Given the description of an element on the screen output the (x, y) to click on. 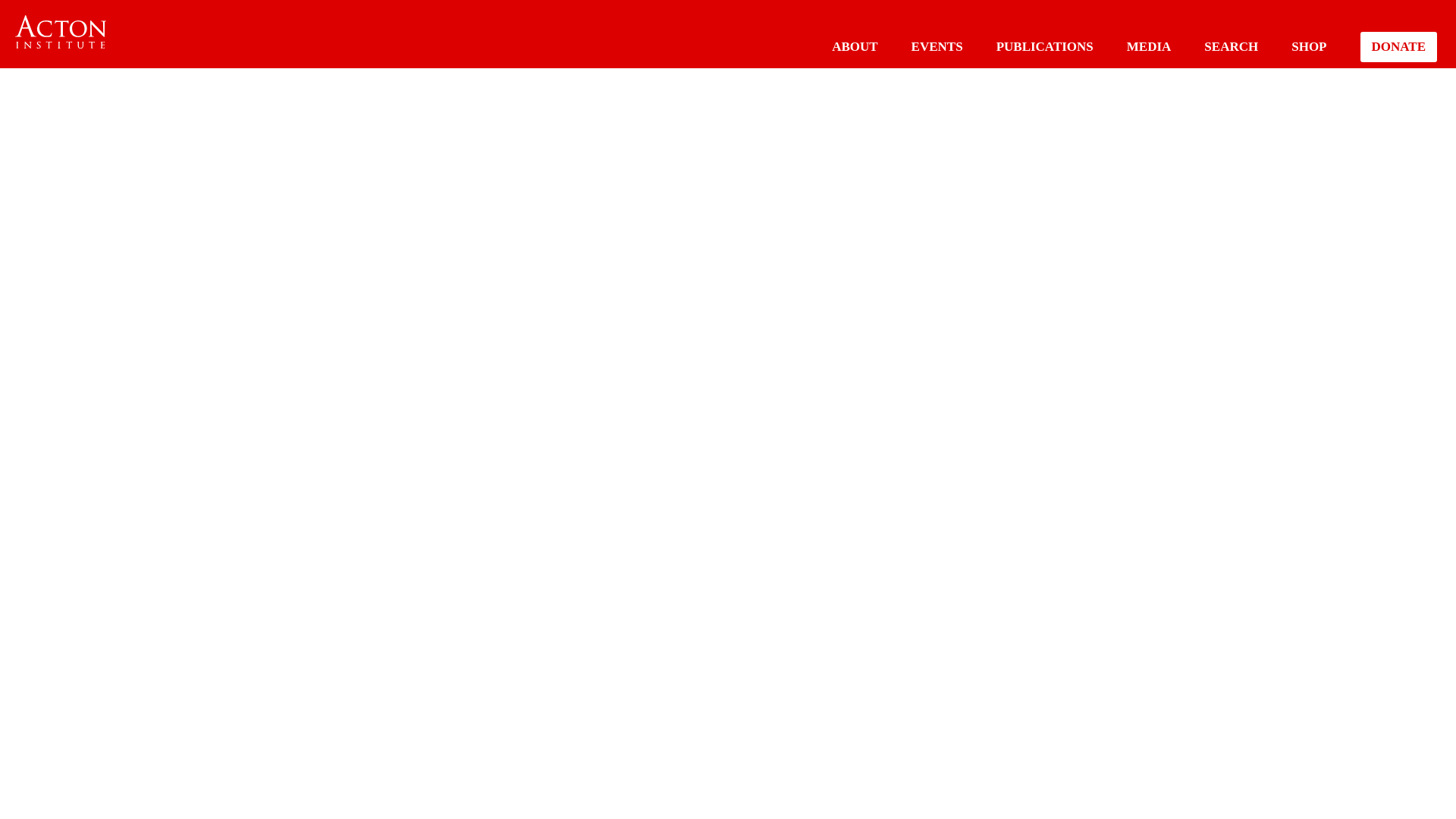
ABOUT (854, 46)
The Acton Institute (60, 31)
SHOP (1308, 46)
DONATE (1398, 46)
PUBLICATIONS (1044, 46)
SEARCH (1230, 46)
EVENTS (936, 46)
MEDIA (1149, 46)
